Given the description of an element on the screen output the (x, y) to click on. 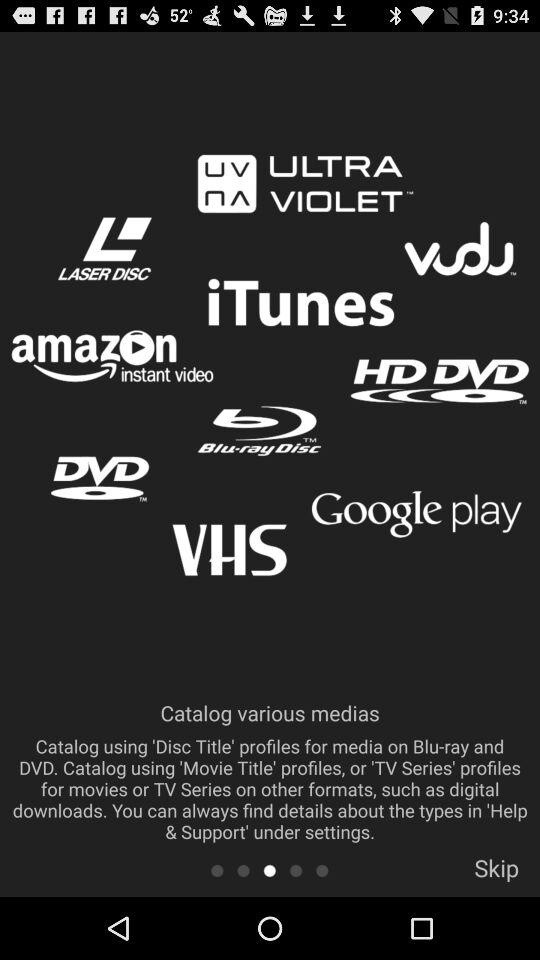
go to screen 1 (216, 870)
